Given the description of an element on the screen output the (x, y) to click on. 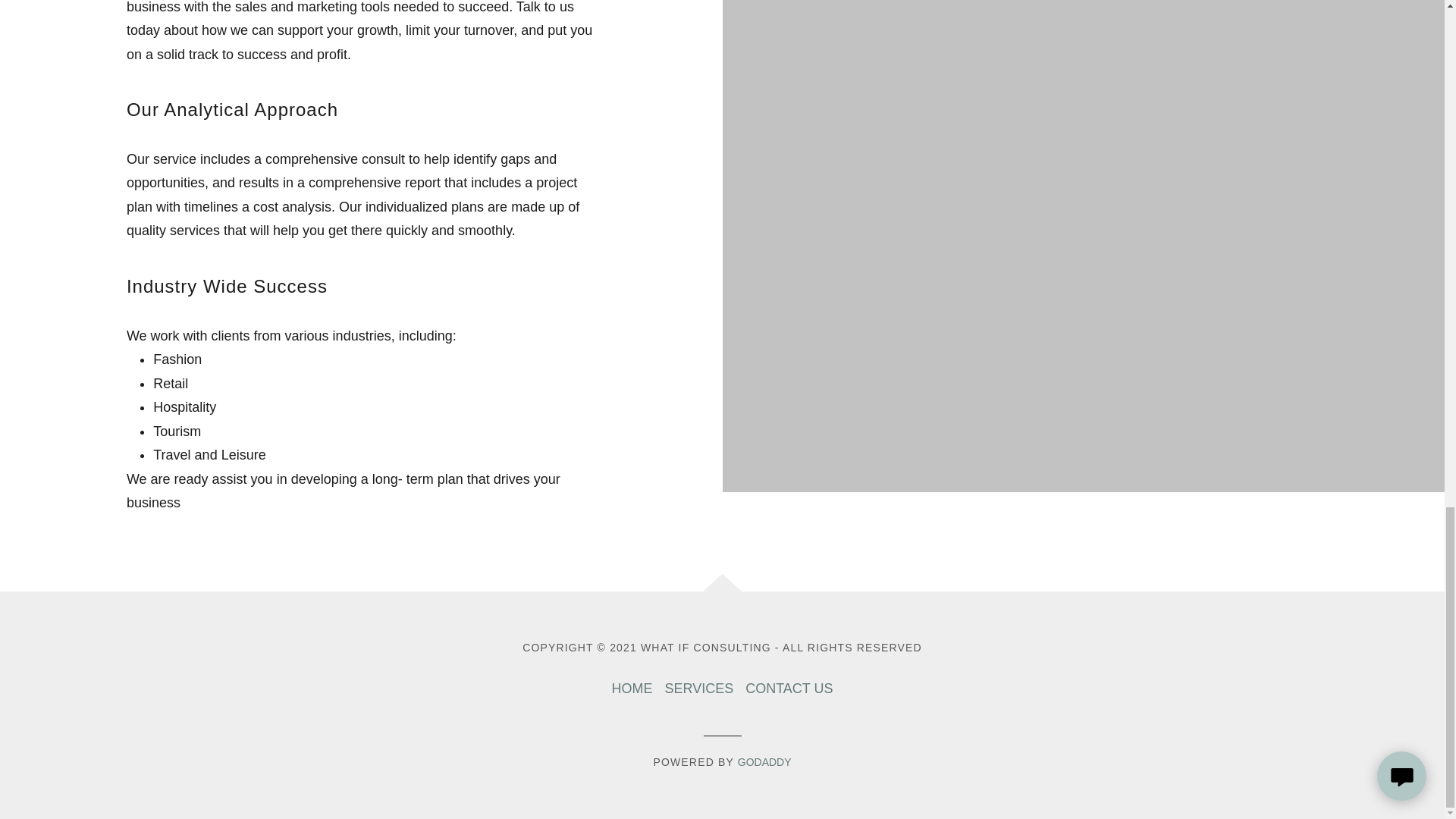
CONTACT US (788, 688)
SERVICES (698, 688)
HOME (631, 688)
GODADDY (765, 761)
